Given the description of an element on the screen output the (x, y) to click on. 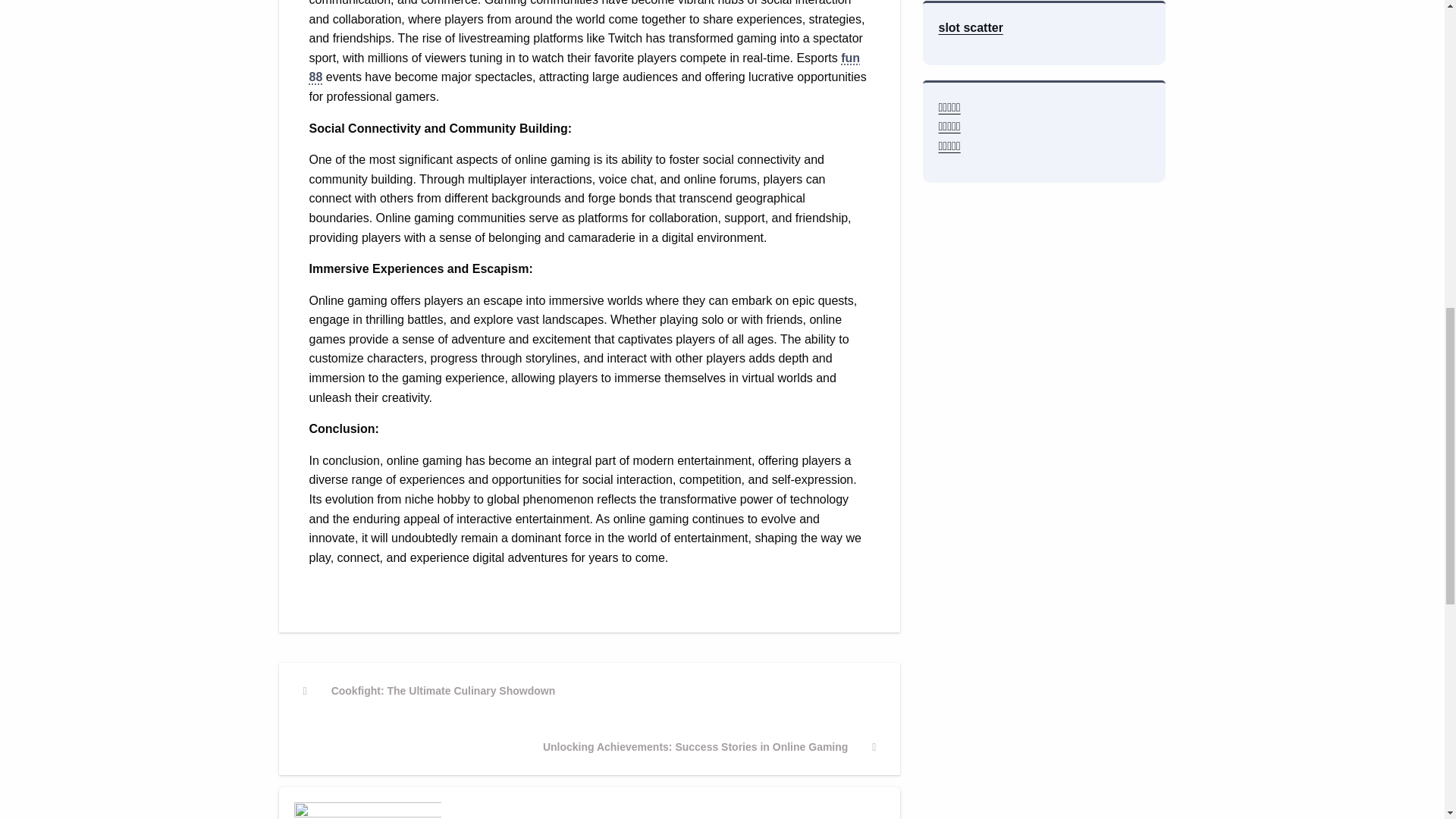
slot scatter (970, 27)
fun 88 (429, 690)
